Given the description of an element on the screen output the (x, y) to click on. 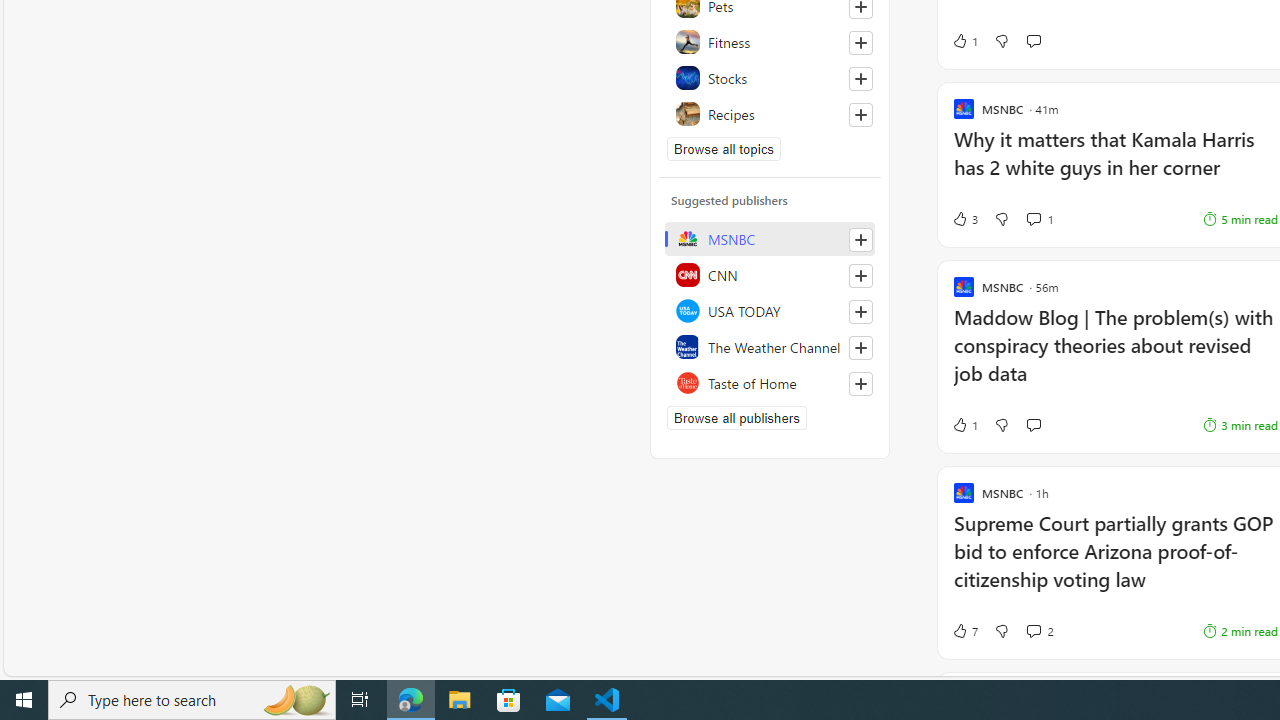
Recipes (770, 114)
USA TODAY (770, 310)
View comments 1 Comment (1033, 218)
Follow this source (860, 384)
Follow this topic (860, 114)
View comments 2 Comment (1033, 630)
7 Like (964, 630)
1 Like (964, 425)
View comments 1 Comment (1039, 219)
The Weather Channel (770, 346)
Dislike (1001, 630)
Follow this topic (860, 114)
Browse all publishers (736, 417)
